Given the description of an element on the screen output the (x, y) to click on. 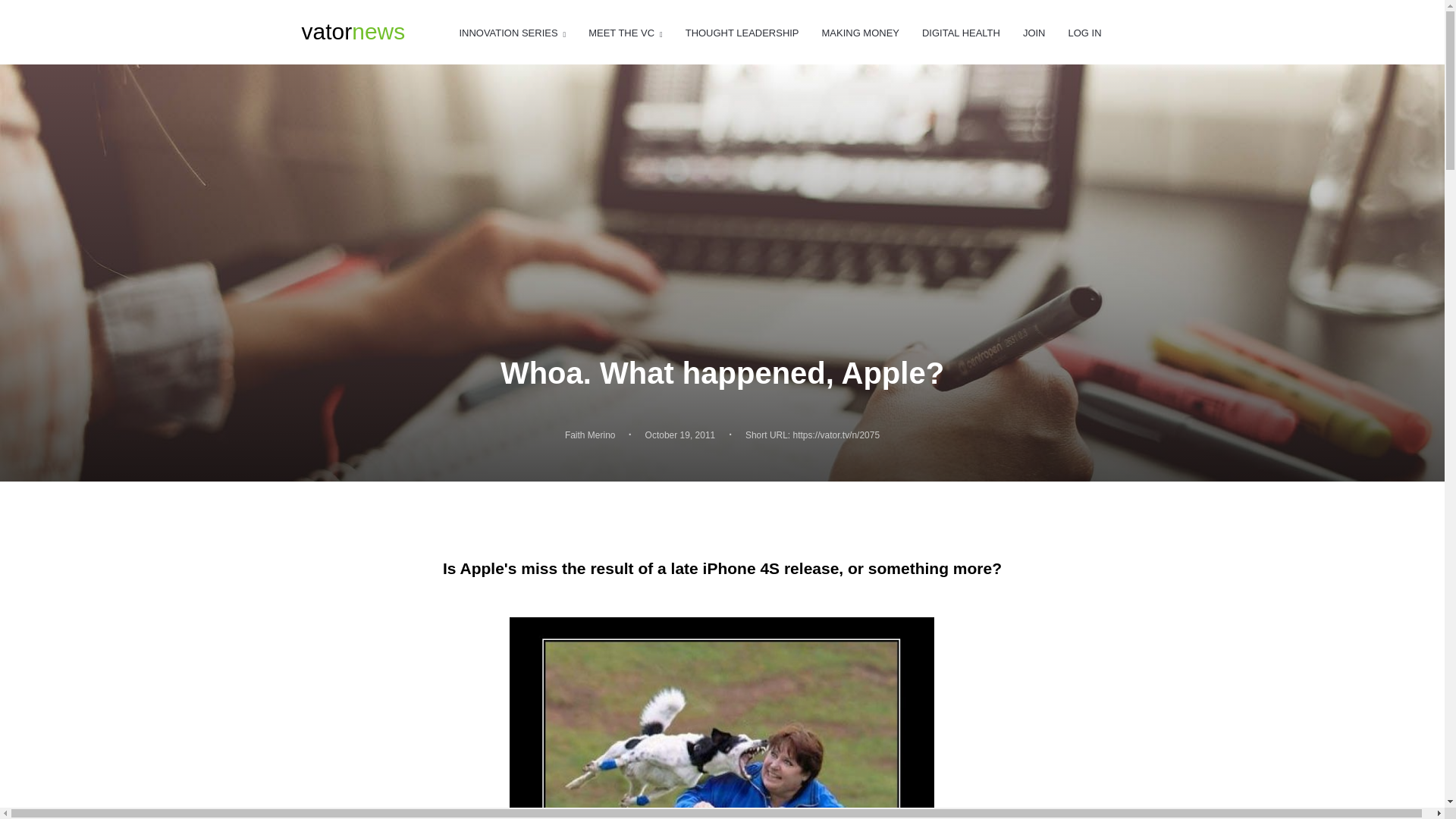
INNOVATION SERIES (512, 33)
THOUGHT LEADERSHIP (742, 33)
LOG IN (1083, 33)
MEET THE VC (353, 32)
Faith Merino (625, 33)
DIGITAL HEALTH (589, 434)
MAKING MONEY (960, 33)
